Given the description of an element on the screen output the (x, y) to click on. 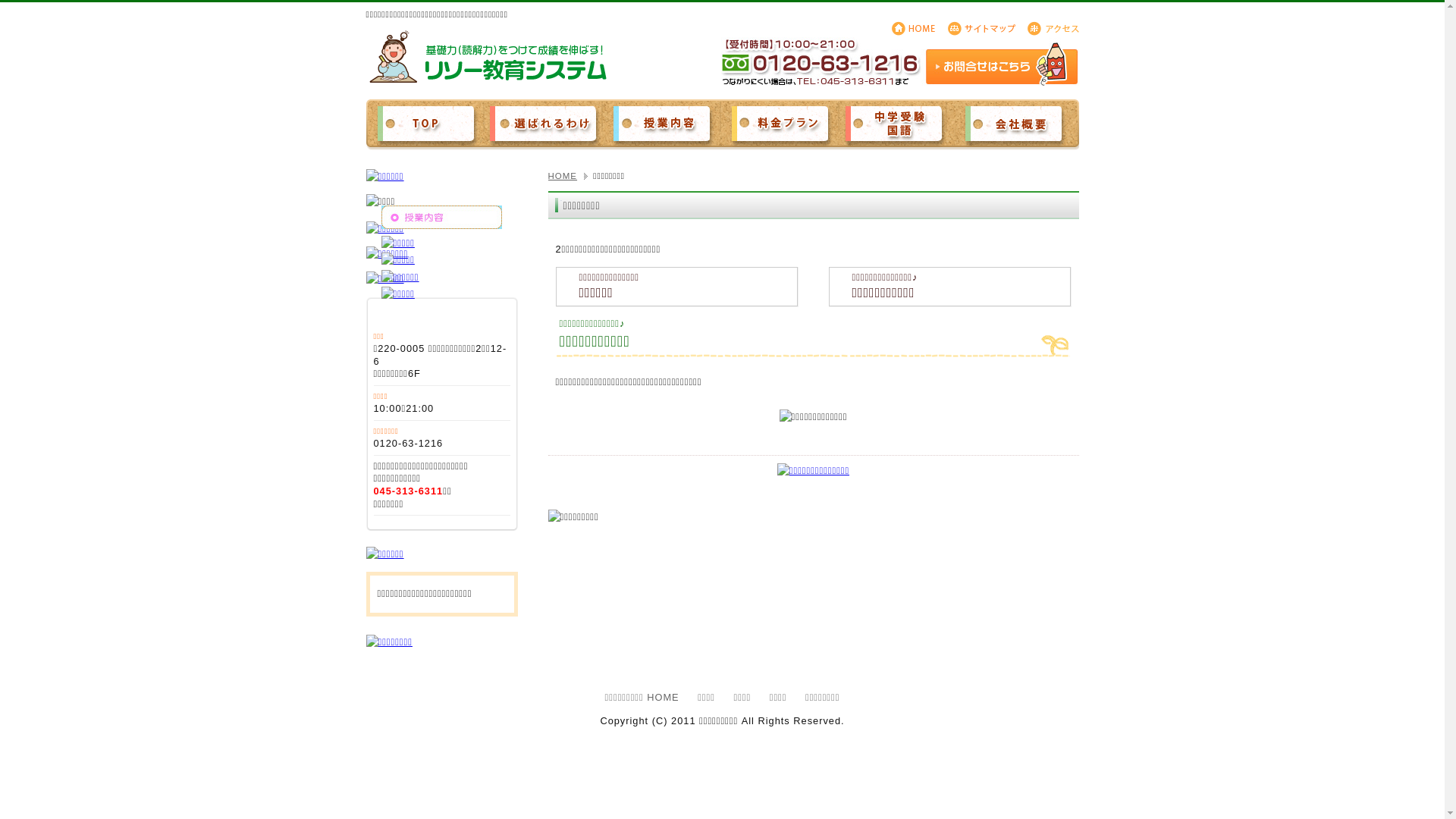
HOME Element type: text (568, 175)
